Given the description of an element on the screen output the (x, y) to click on. 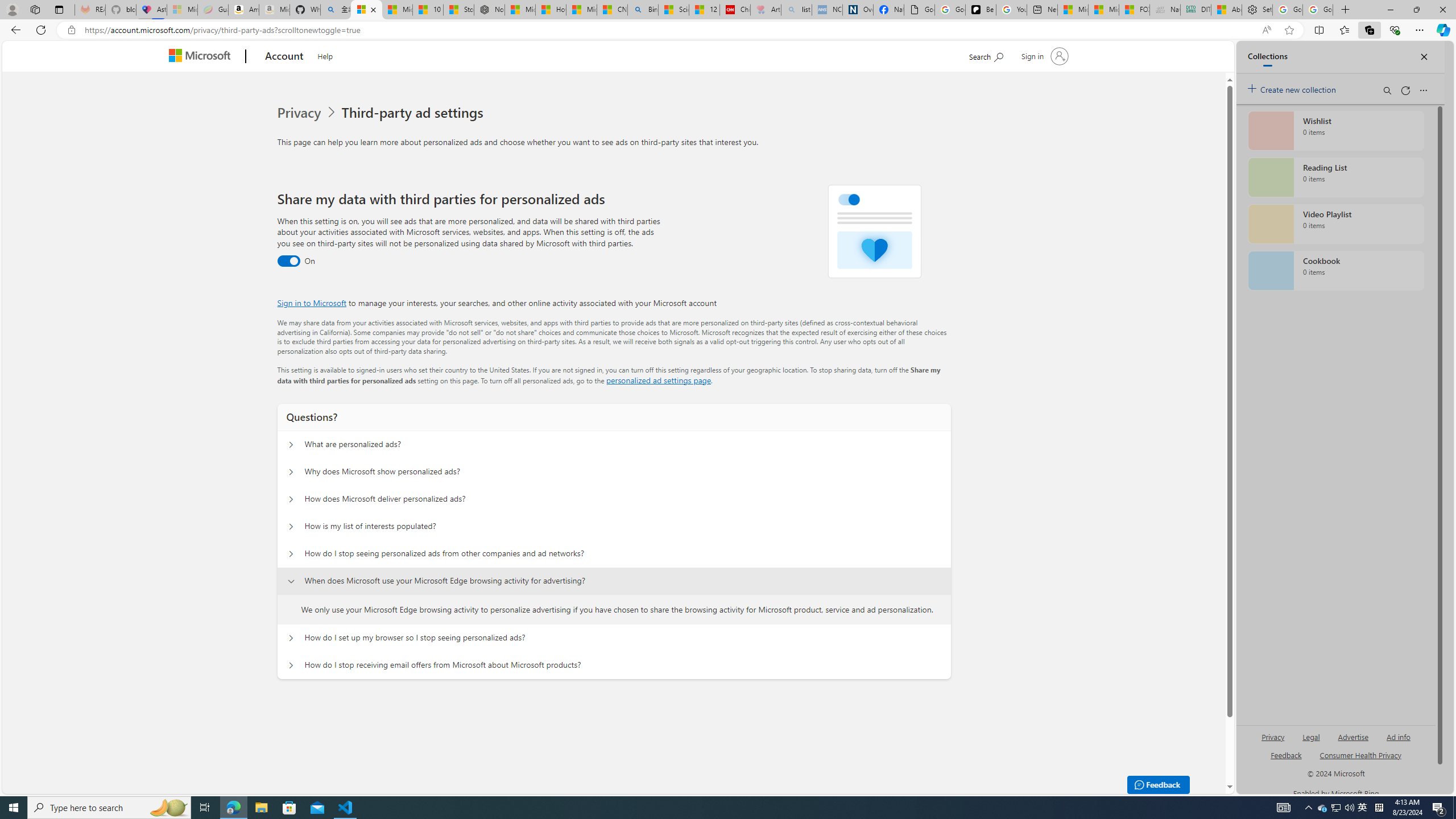
Questions? How does Microsoft deliver personalized ads? (290, 499)
